Given the description of an element on the screen output the (x, y) to click on. 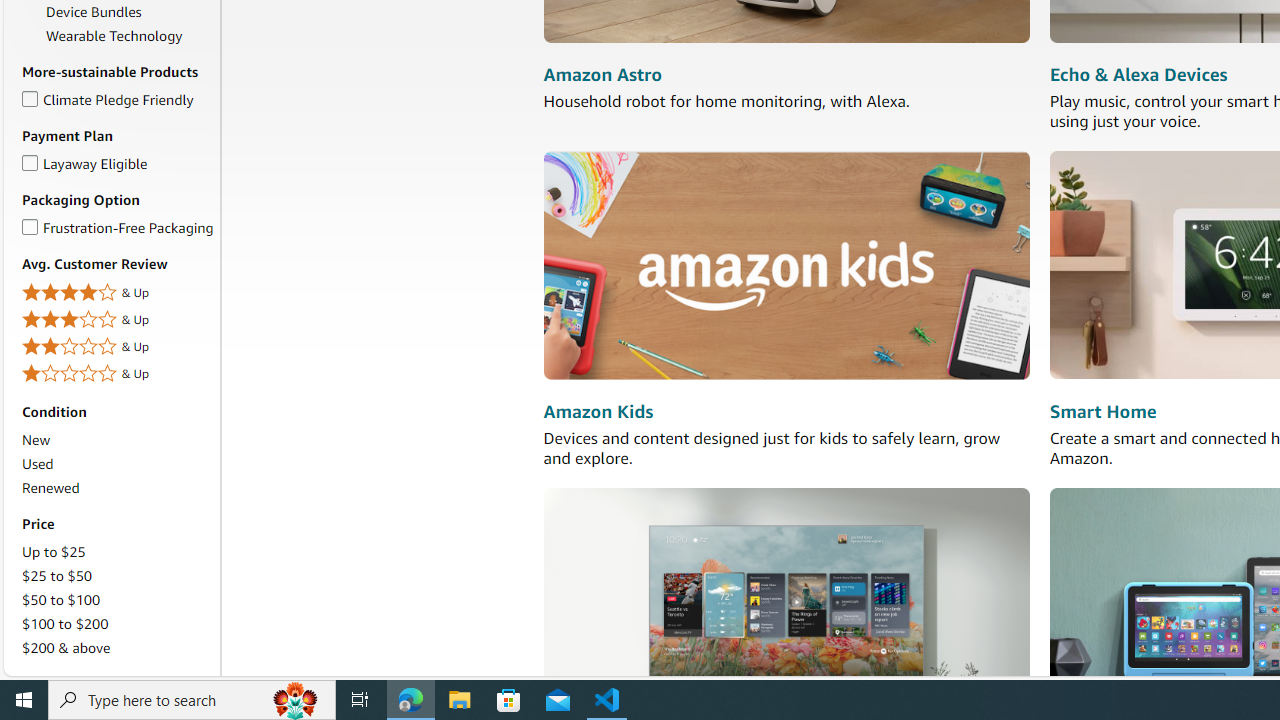
Echo & Alexa Devices (1138, 75)
New (117, 439)
Layaway Eligible Layaway Eligible (84, 162)
Amazon Astro (601, 75)
Up to $25 (53, 551)
$200 & above (66, 647)
Wearable Technology (129, 35)
4 Stars & Up (117, 292)
Up to $25 (117, 552)
Used (117, 463)
$25 to $50 (117, 575)
Amazon Kids (786, 265)
3 Stars & Up (117, 319)
New (36, 440)
